Given the description of an element on the screen output the (x, y) to click on. 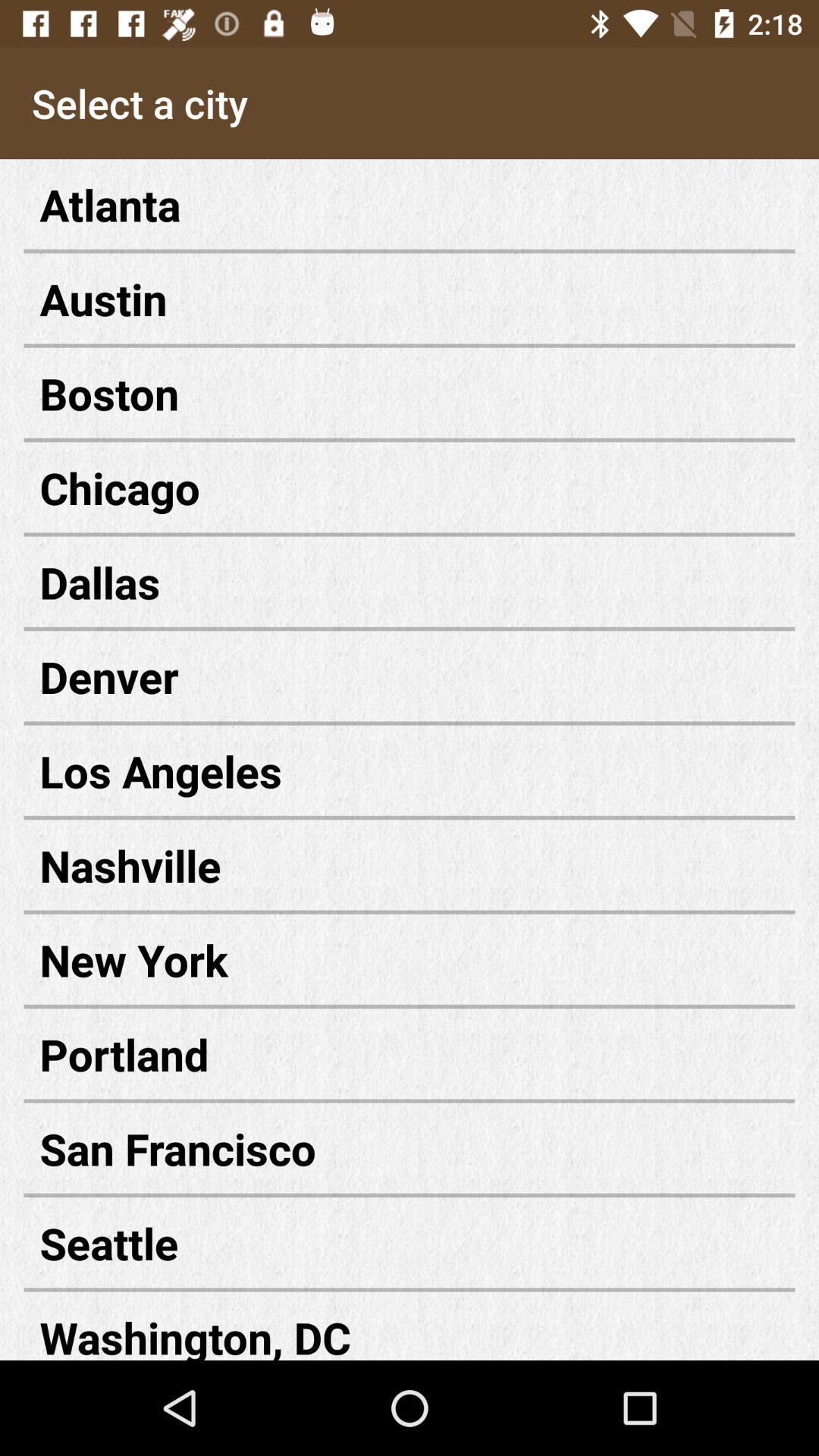
turn off chicago item (409, 487)
